Given the description of an element on the screen output the (x, y) to click on. 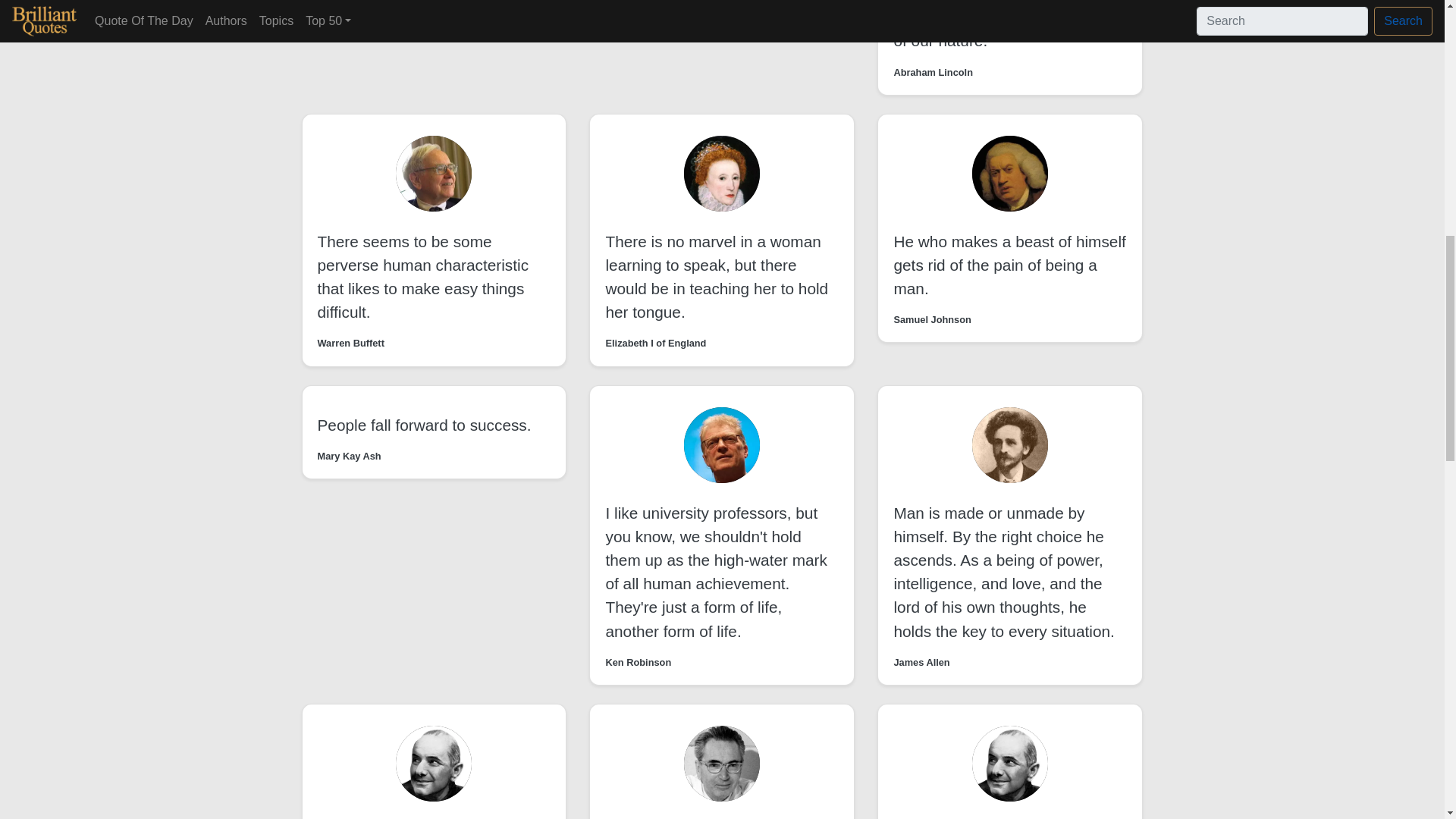
Warren Buffett (350, 342)
Mary Kay Ash (348, 455)
Abraham Lincoln (932, 72)
Elizabeth I of England (655, 342)
People fall forward to success. (424, 425)
Ken Robinson (638, 662)
